Given the description of an element on the screen output the (x, y) to click on. 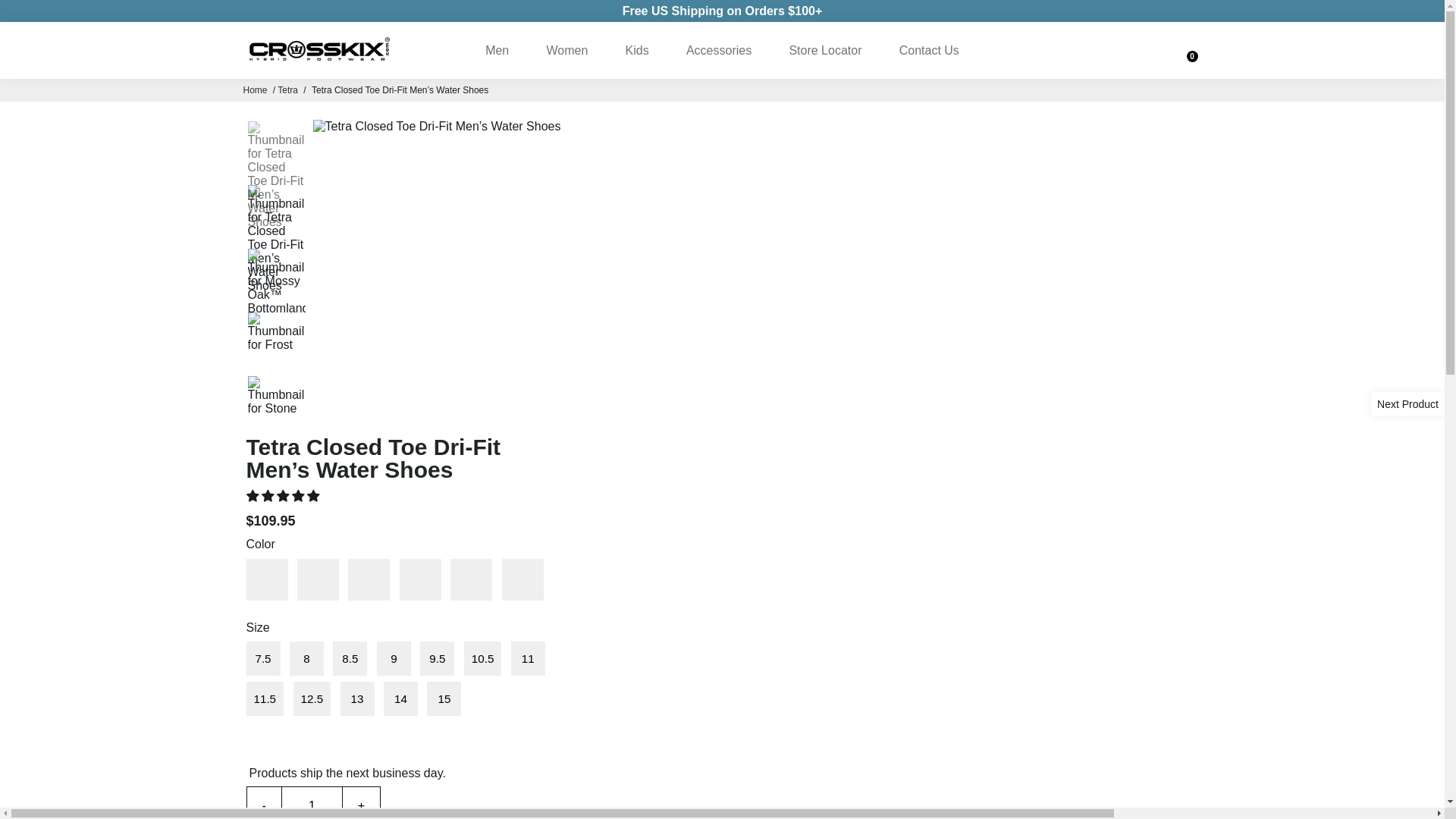
Accessories (719, 50)
Kids (636, 50)
Store Locator (824, 50)
- (264, 803)
Women (566, 50)
1 (312, 803)
Men (497, 50)
Home (254, 90)
Tetra (288, 90)
Home (254, 90)
Next Product (1407, 403)
Contact Us (928, 50)
